Given the description of an element on the screen output the (x, y) to click on. 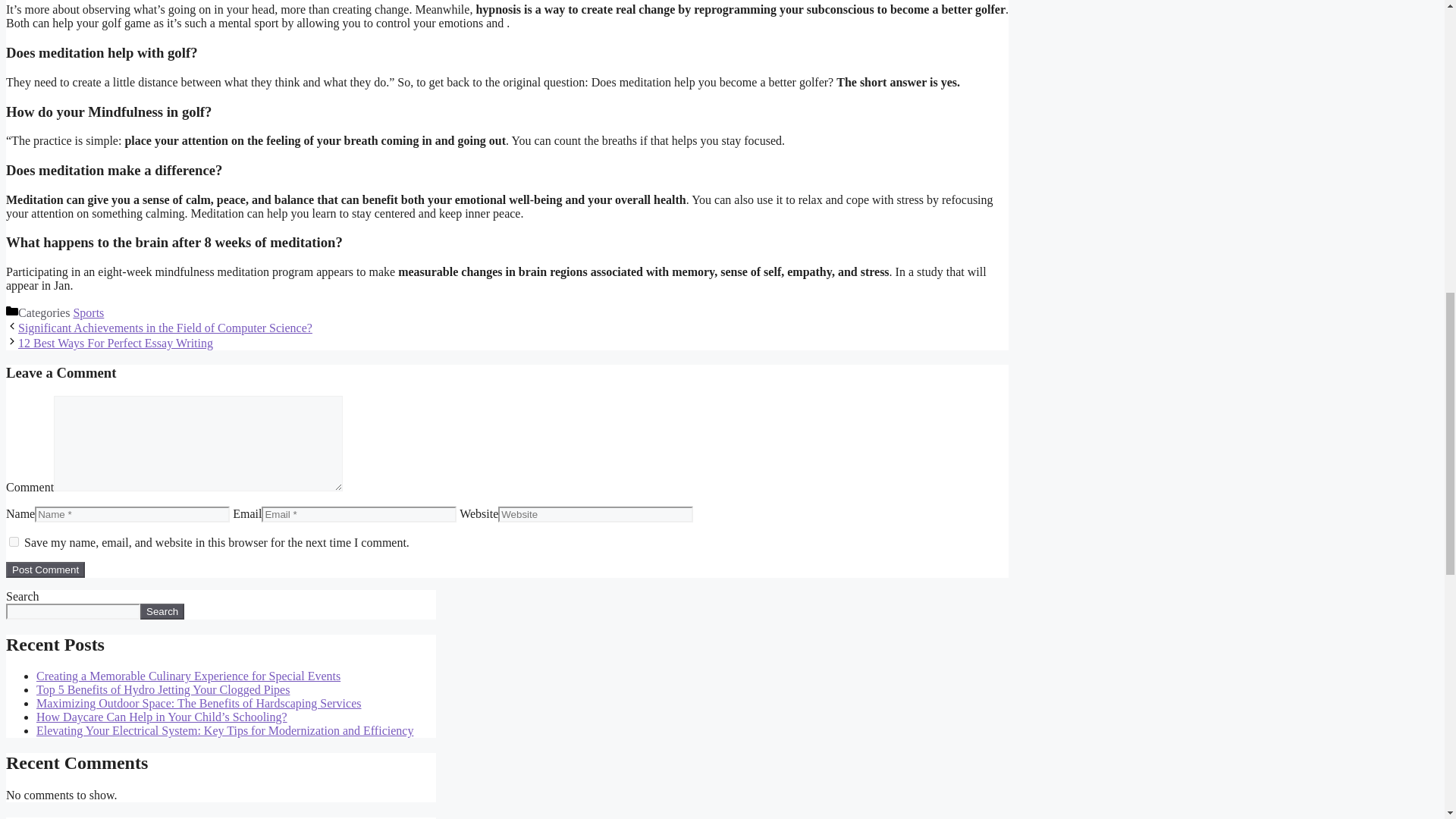
yes (13, 542)
Significant Achievements in the Field of Computer Science? (165, 327)
Post Comment (44, 569)
Top 5 Benefits of Hydro Jetting Your Clogged Pipes (162, 689)
Creating a Memorable Culinary Experience for Special Events (188, 675)
Search (161, 611)
12 Best Ways For Perfect Essay Writing (114, 342)
Sports (87, 312)
